Given the description of an element on the screen output the (x, y) to click on. 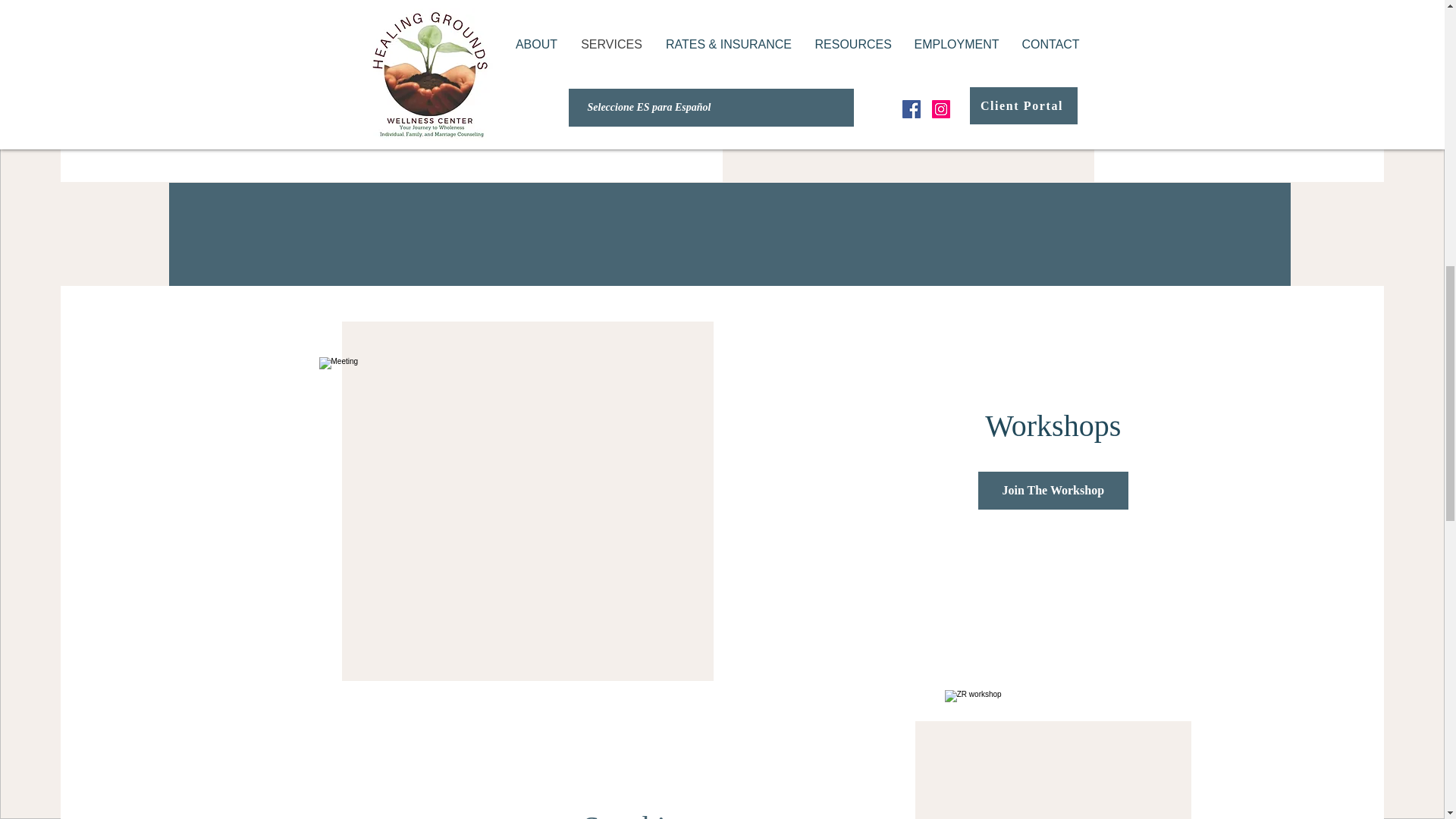
Book A Consultation (302, 51)
Join The Workshop (1053, 490)
